Given the description of an element on the screen output the (x, y) to click on. 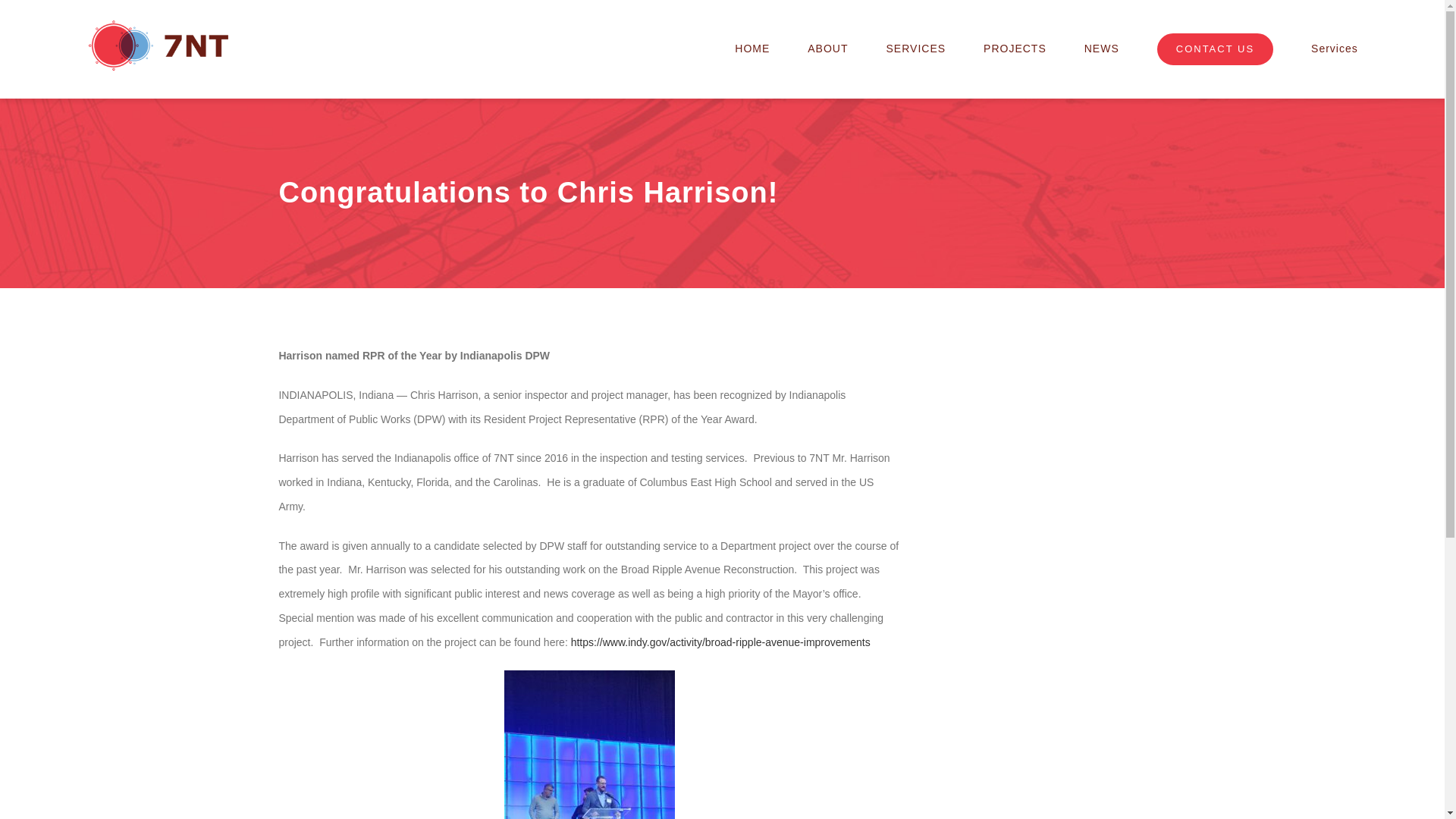
CONTACT US (1214, 49)
